Given the description of an element on the screen output the (x, y) to click on. 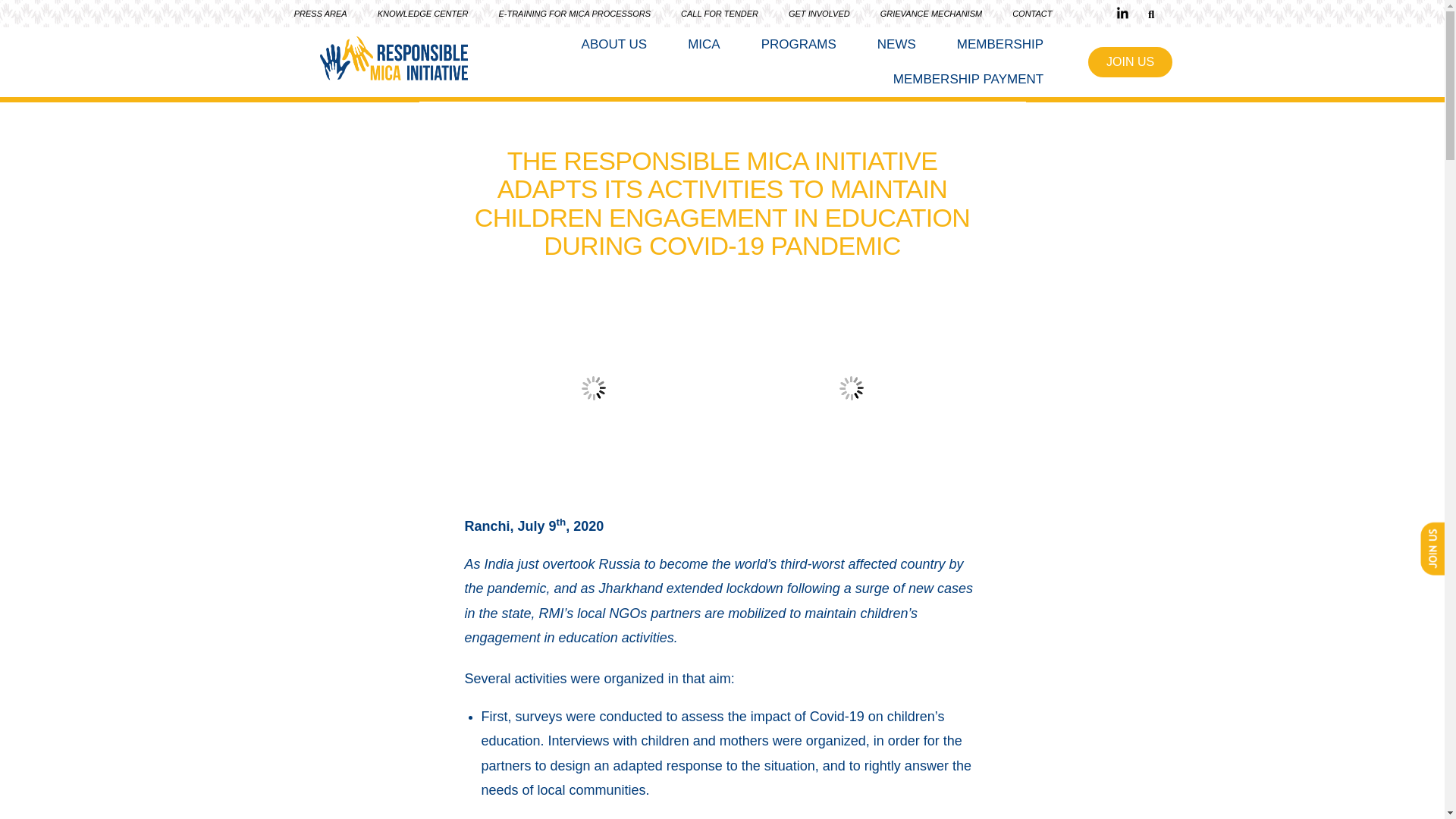
MICA (703, 44)
PROGRAMS (799, 44)
ABOUT US (614, 44)
MEMBERSHIP (1000, 44)
CALL FOR TENDER (719, 15)
KNOWLEDGE CENTER (422, 15)
E-TRAINING FOR MICA PROCESSORS (574, 15)
CONTACT (1032, 15)
PRESS AREA (320, 15)
NEWS (896, 44)
